Given the description of an element on the screen output the (x, y) to click on. 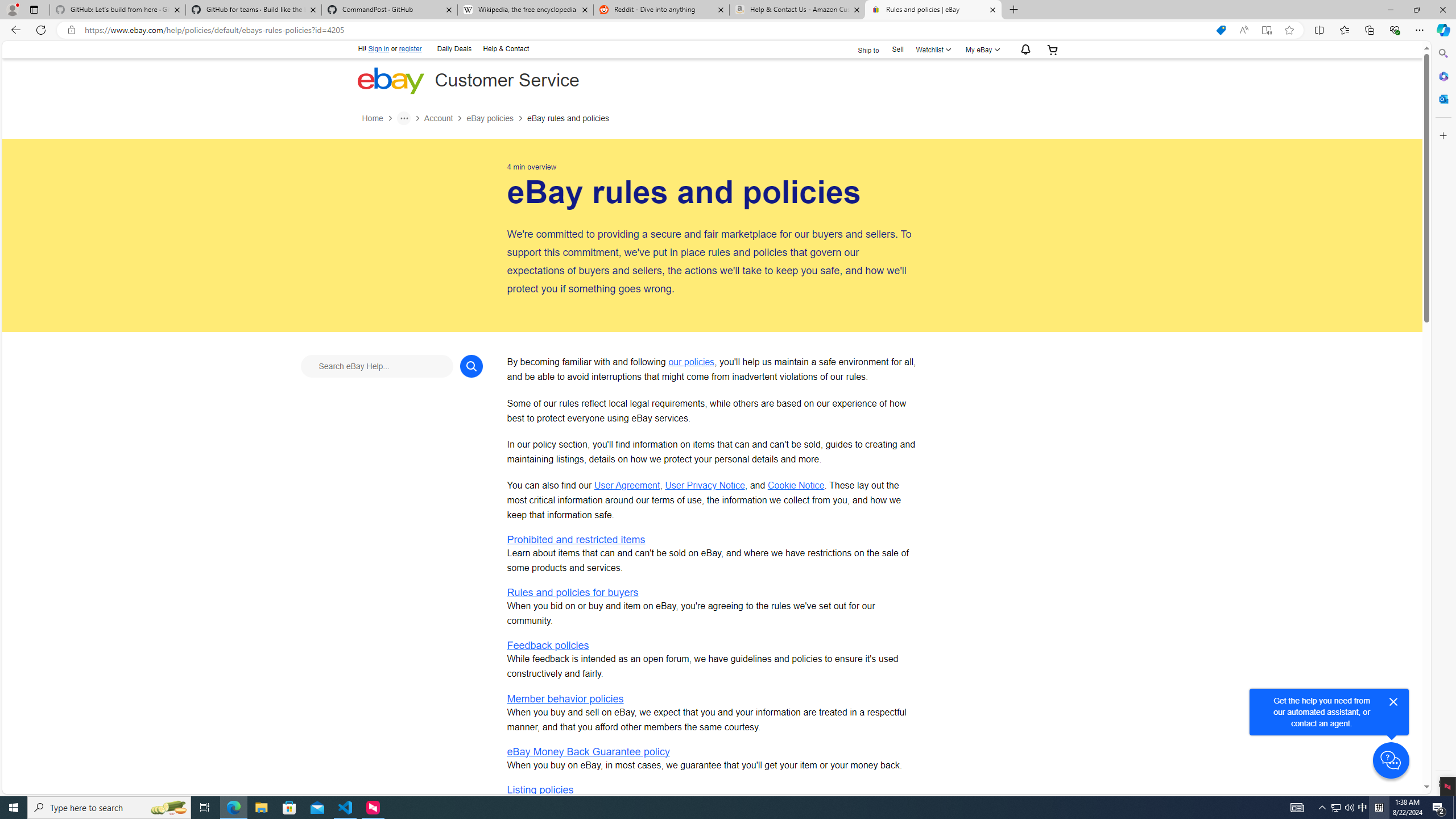
User Privacy Notice (705, 484)
My eBayExpand My eBay (981, 49)
Your shopping cart (1052, 49)
Search eBay Help... (375, 365)
our policies (691, 362)
Listing policies (539, 789)
Daily Deals (453, 49)
User Agreement (627, 484)
Cookie Notice (795, 484)
eBay Money Back Guarantee policy (587, 751)
